Given the description of an element on the screen output the (x, y) to click on. 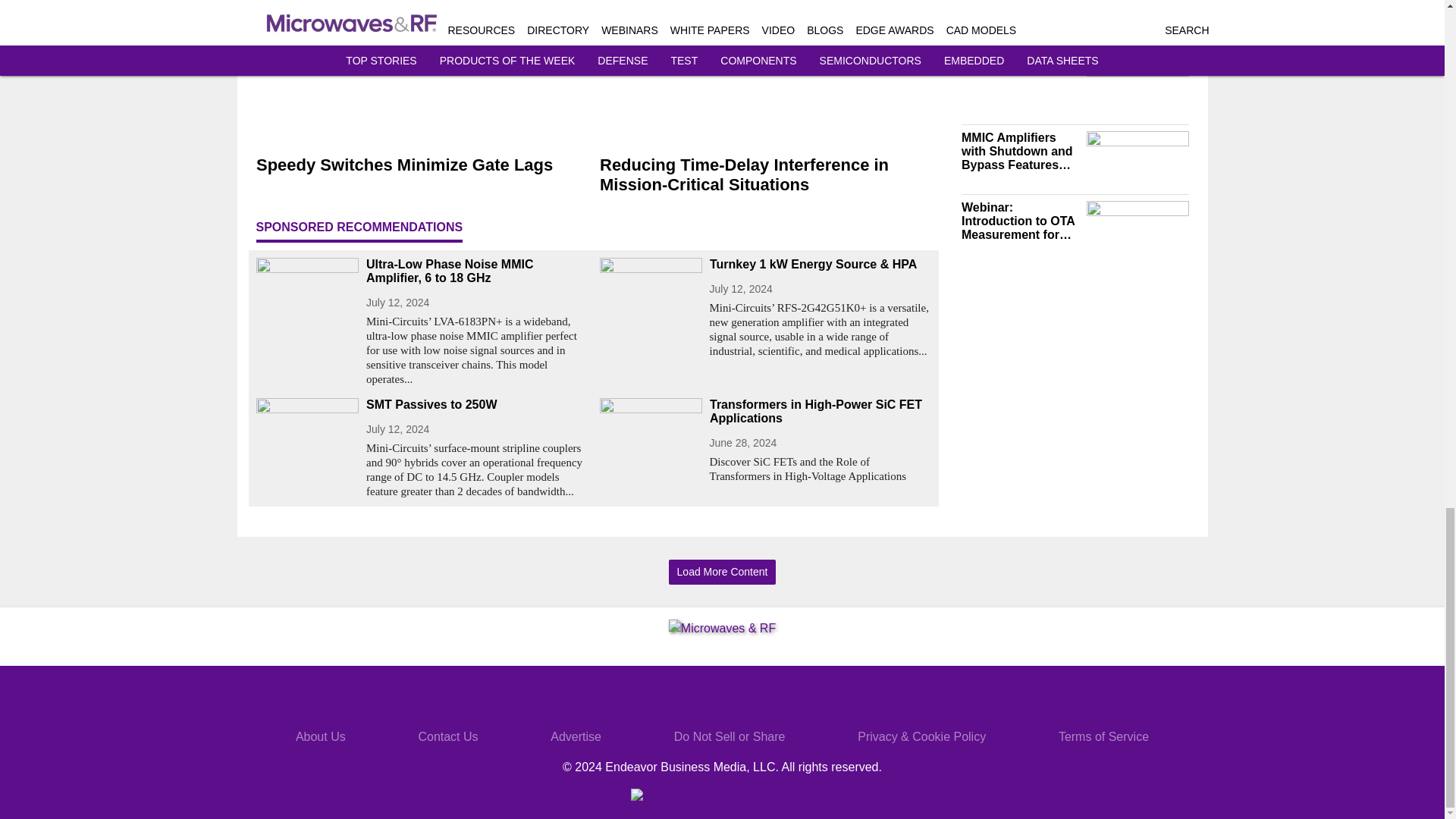
Transformers in High-Power SiC FET Applications (820, 411)
SMT Passives to 250W (476, 404)
Speedy Switches Minimize Gate Lags (422, 165)
Ultra-Low Phase Noise MMIC Amplifier, 6 to 18 GHz (476, 271)
